Given the description of an element on the screen output the (x, y) to click on. 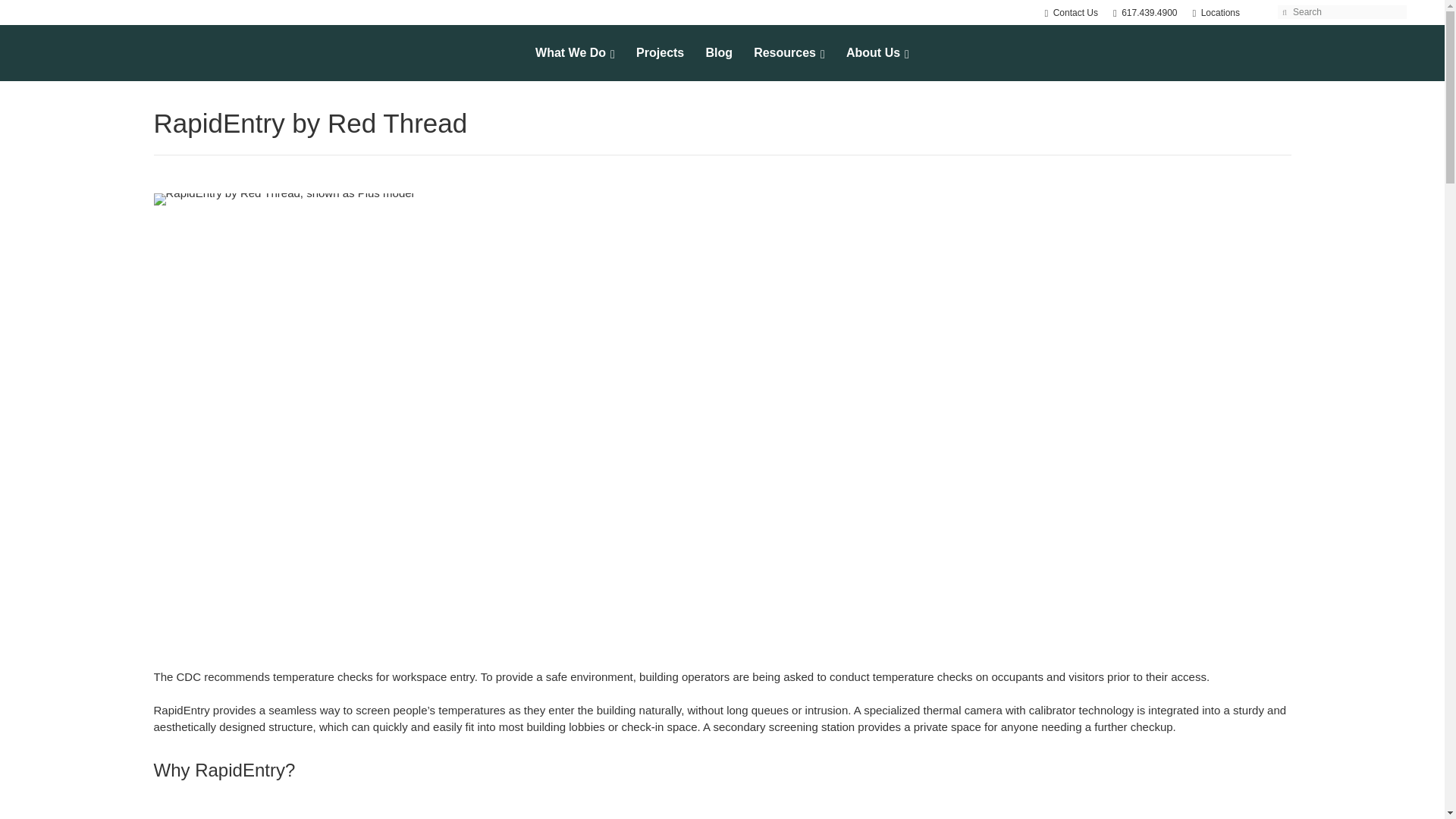
Locations (1216, 12)
Projects (660, 53)
Resources (1145, 12)
Contact Us (789, 53)
Submit Search (1071, 12)
What We Do (1284, 11)
About Us (574, 53)
Steelcase 2022 Premier Partner (877, 53)
